Given the description of an element on the screen output the (x, y) to click on. 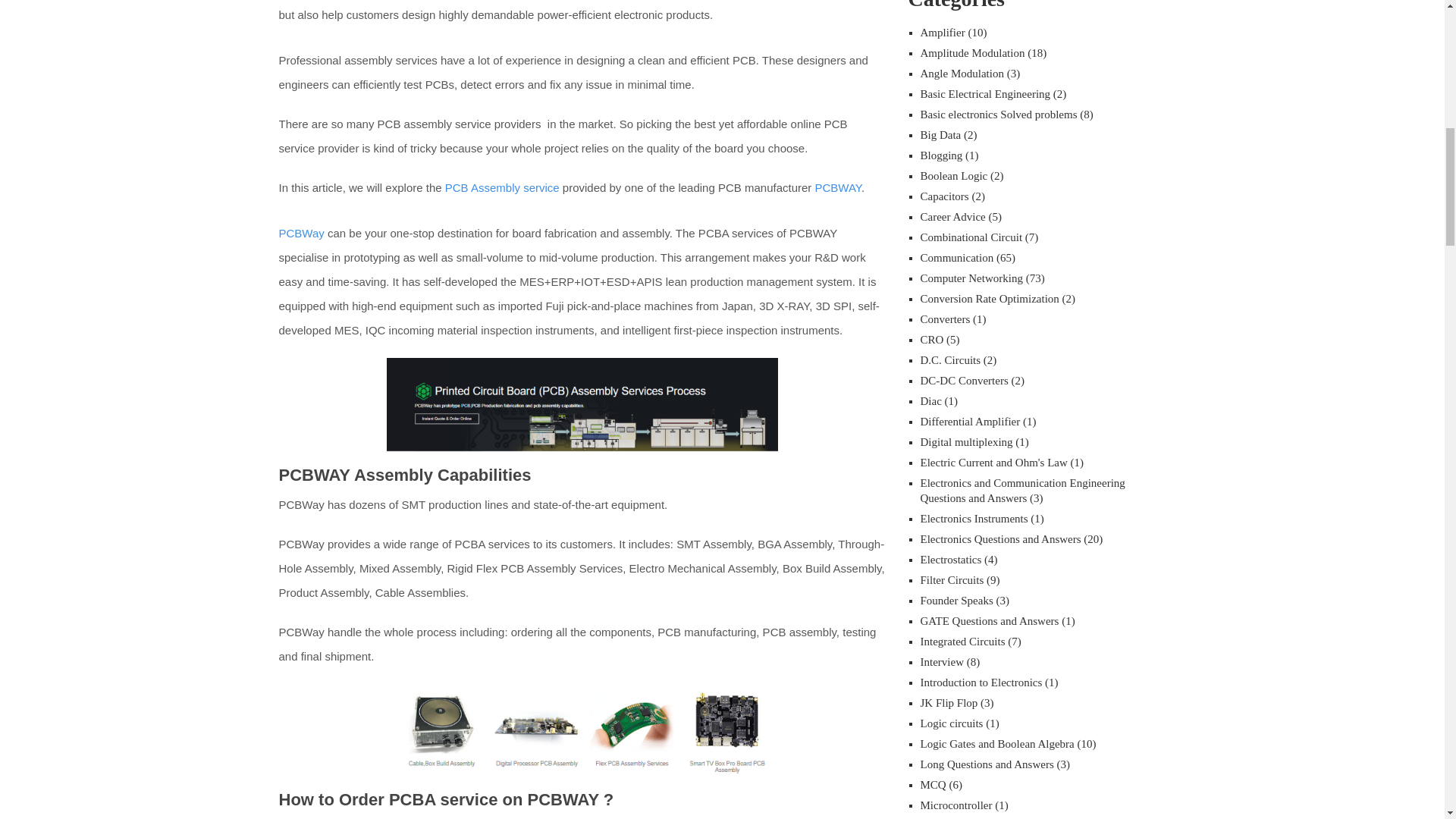
PCBWAY (838, 187)
PCB Assembly service (502, 187)
Blogging (941, 155)
Amplitude Modulation (972, 52)
Basic electronics Solved problems (998, 114)
Big Data (940, 134)
Angle Modulation (962, 73)
Basic Electrical Engineering (985, 93)
PCBWay (301, 232)
Boolean Logic (954, 175)
